Given the description of an element on the screen output the (x, y) to click on. 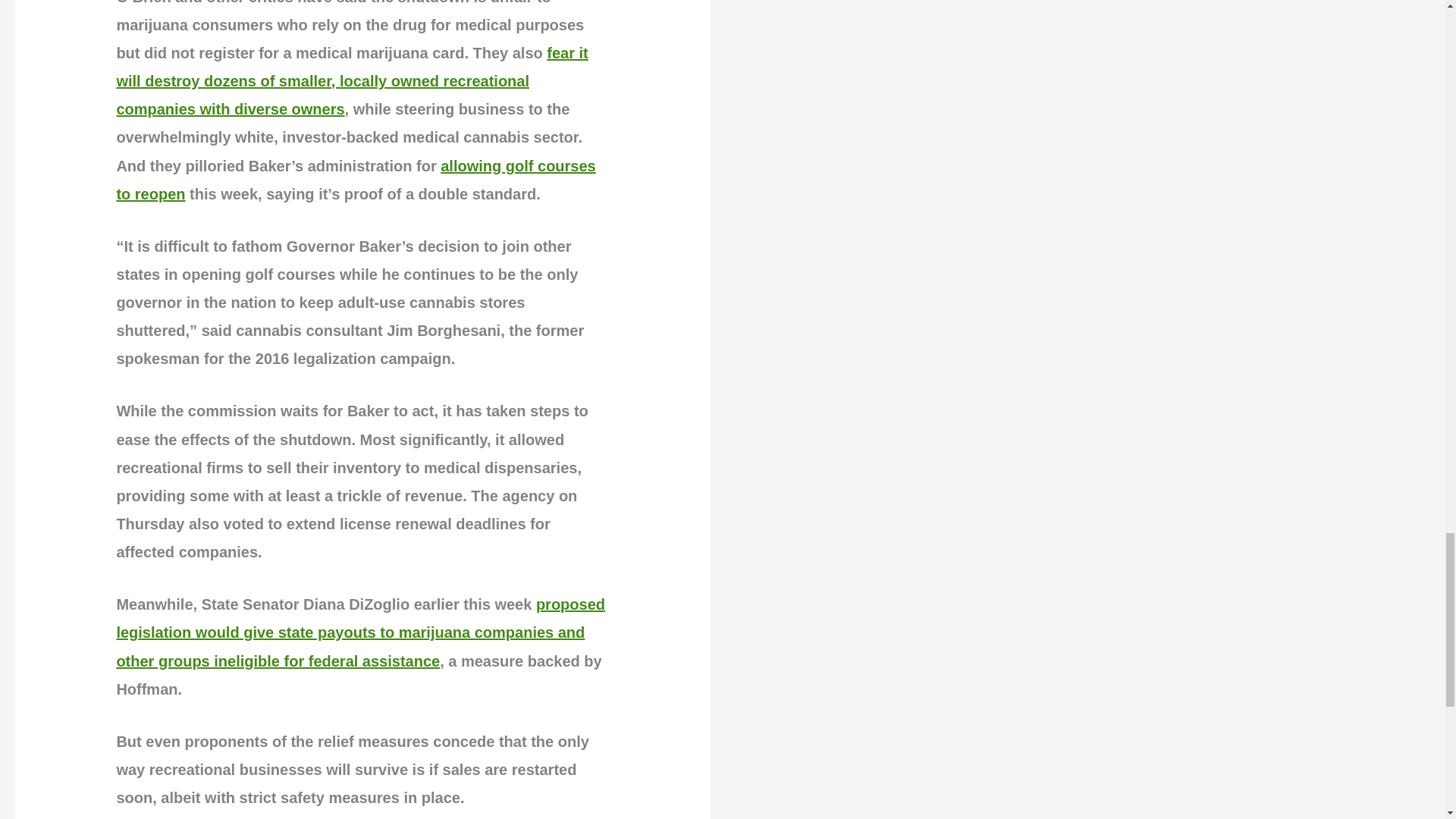
allowing golf courses to reopen (355, 180)
